Given the description of an element on the screen output the (x, y) to click on. 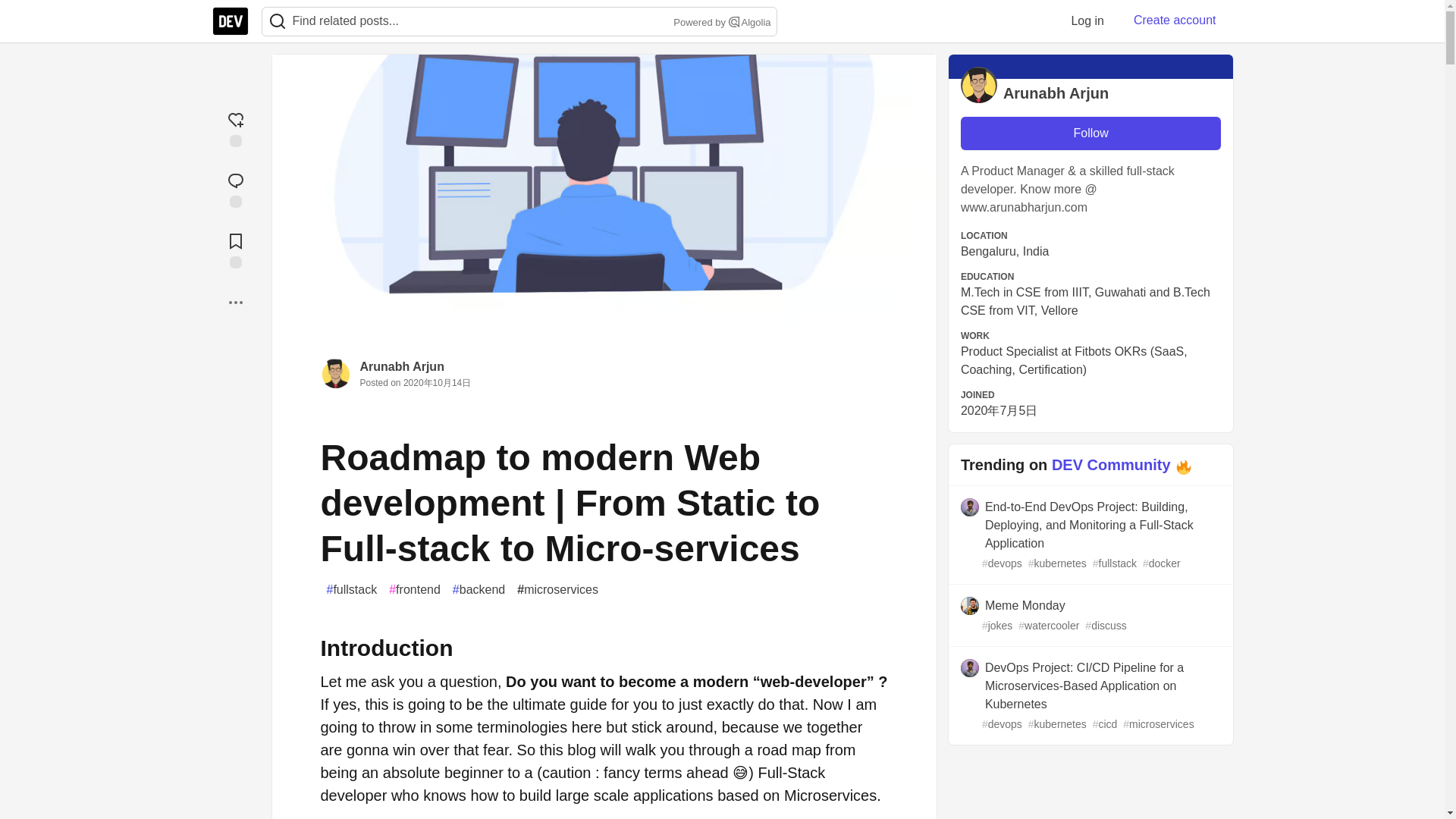
More... (234, 302)
More... (234, 302)
Search (734, 21)
Search (277, 21)
Hot (1183, 466)
Create account (1174, 20)
Log in (1087, 20)
Search (276, 21)
Powered by Search Algolia (720, 22)
Arunabh Arjun (401, 366)
